Given the description of an element on the screen output the (x, y) to click on. 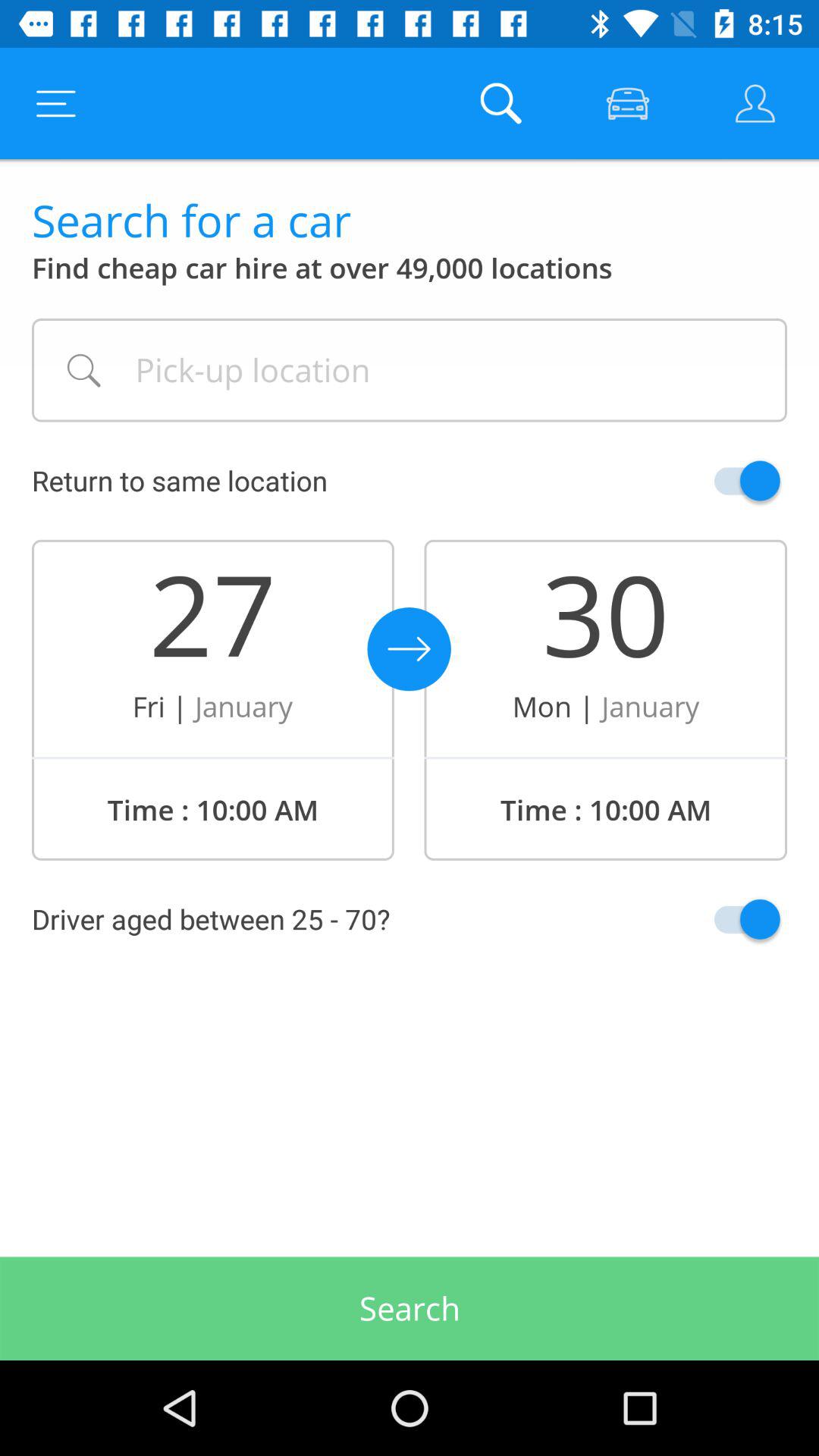
enter your pick-up location (409, 370)
